Given the description of an element on the screen output the (x, y) to click on. 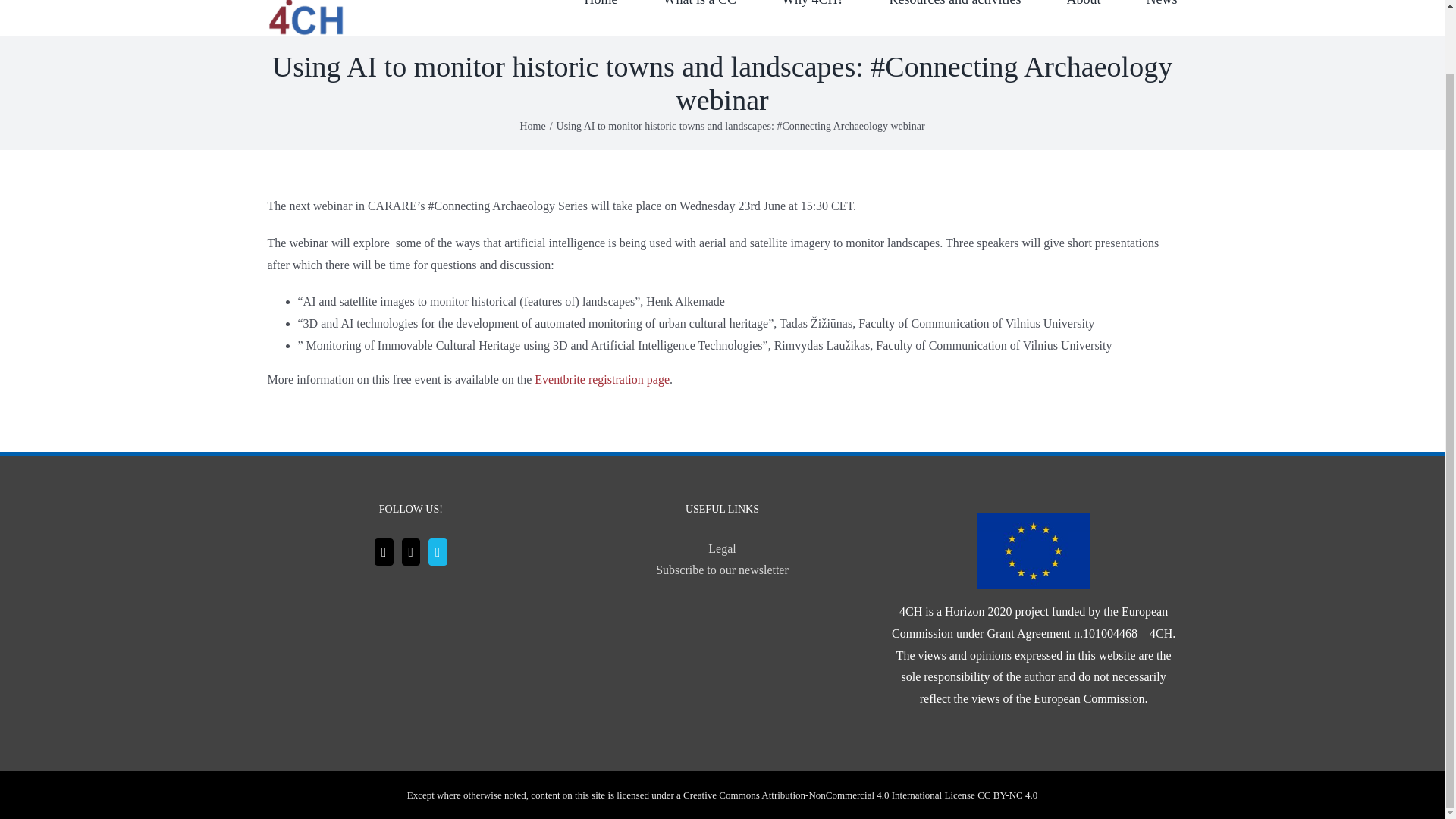
Why 4CH? (812, 18)
News (1162, 18)
What is a CC (699, 18)
Home (601, 18)
About (1082, 18)
Resources and activities (955, 18)
